Given the description of an element on the screen output the (x, y) to click on. 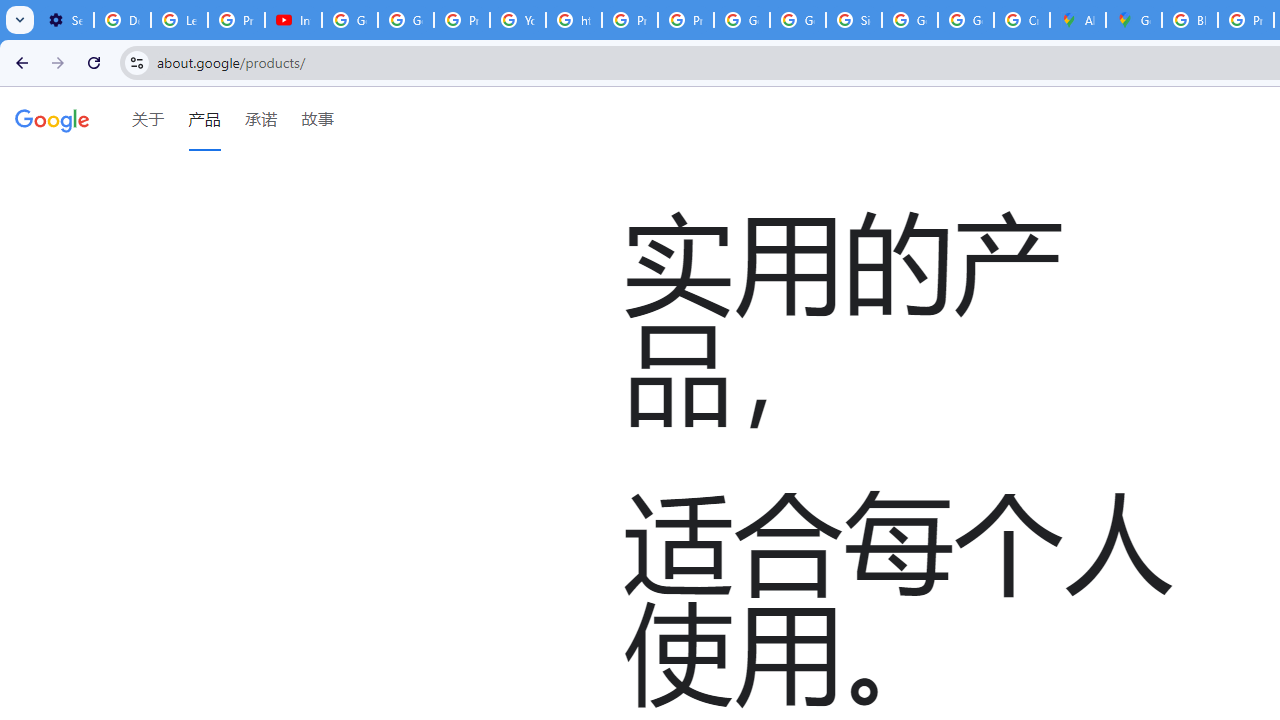
Settings - Customize profile (65, 20)
Introduction | Google Privacy Policy - YouTube (293, 20)
Privacy Help Center - Policies Help (461, 20)
Learn how to find your photos - Google Photos Help (179, 20)
